Given the description of an element on the screen output the (x, y) to click on. 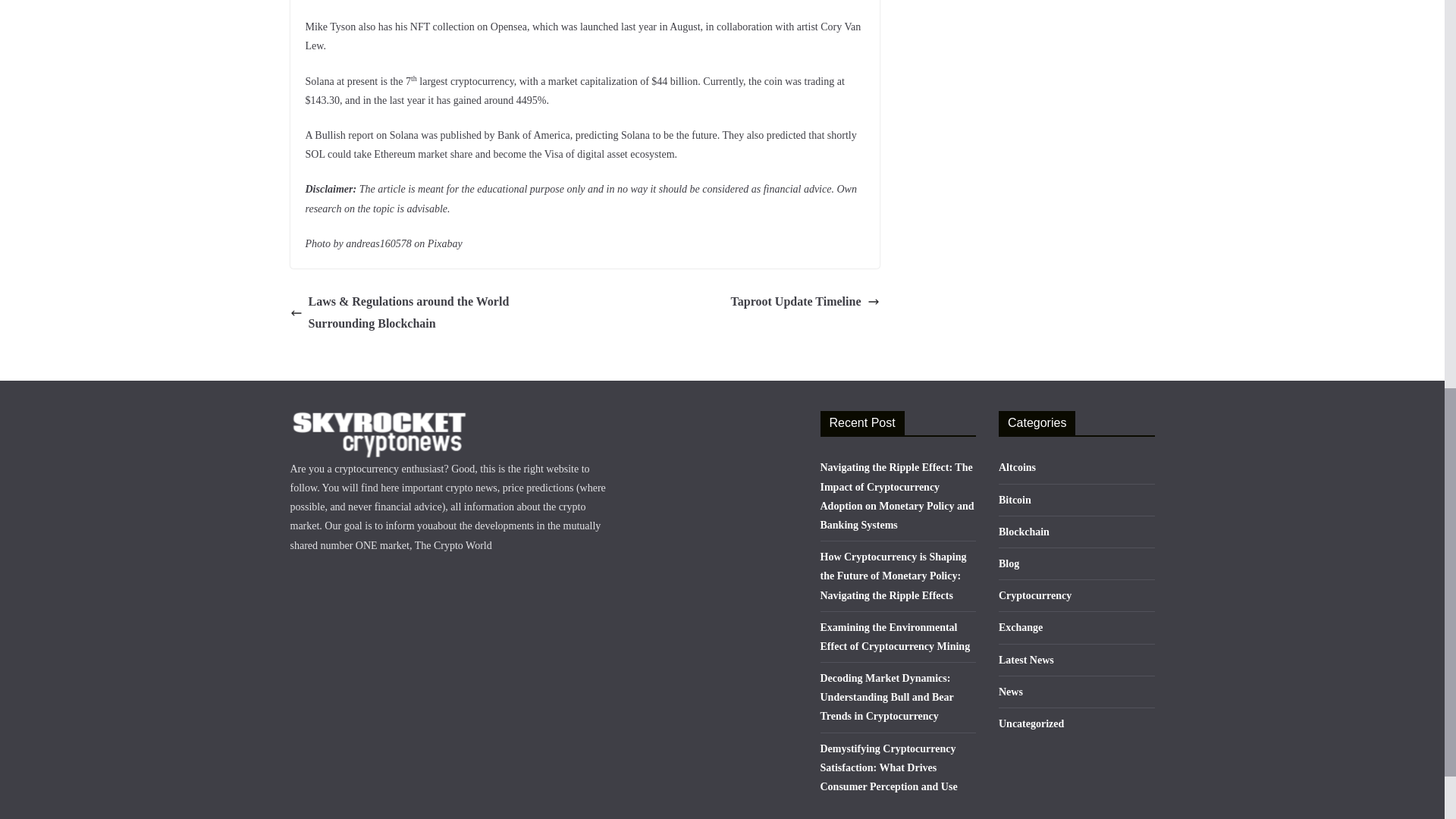
Exchange (1020, 627)
Altcoins (1016, 467)
Uncategorized (1031, 723)
Bitcoin (1014, 500)
Taproot Update Timeline (804, 301)
Latest News (1026, 659)
Blockchain (1023, 531)
